Given the description of an element on the screen output the (x, y) to click on. 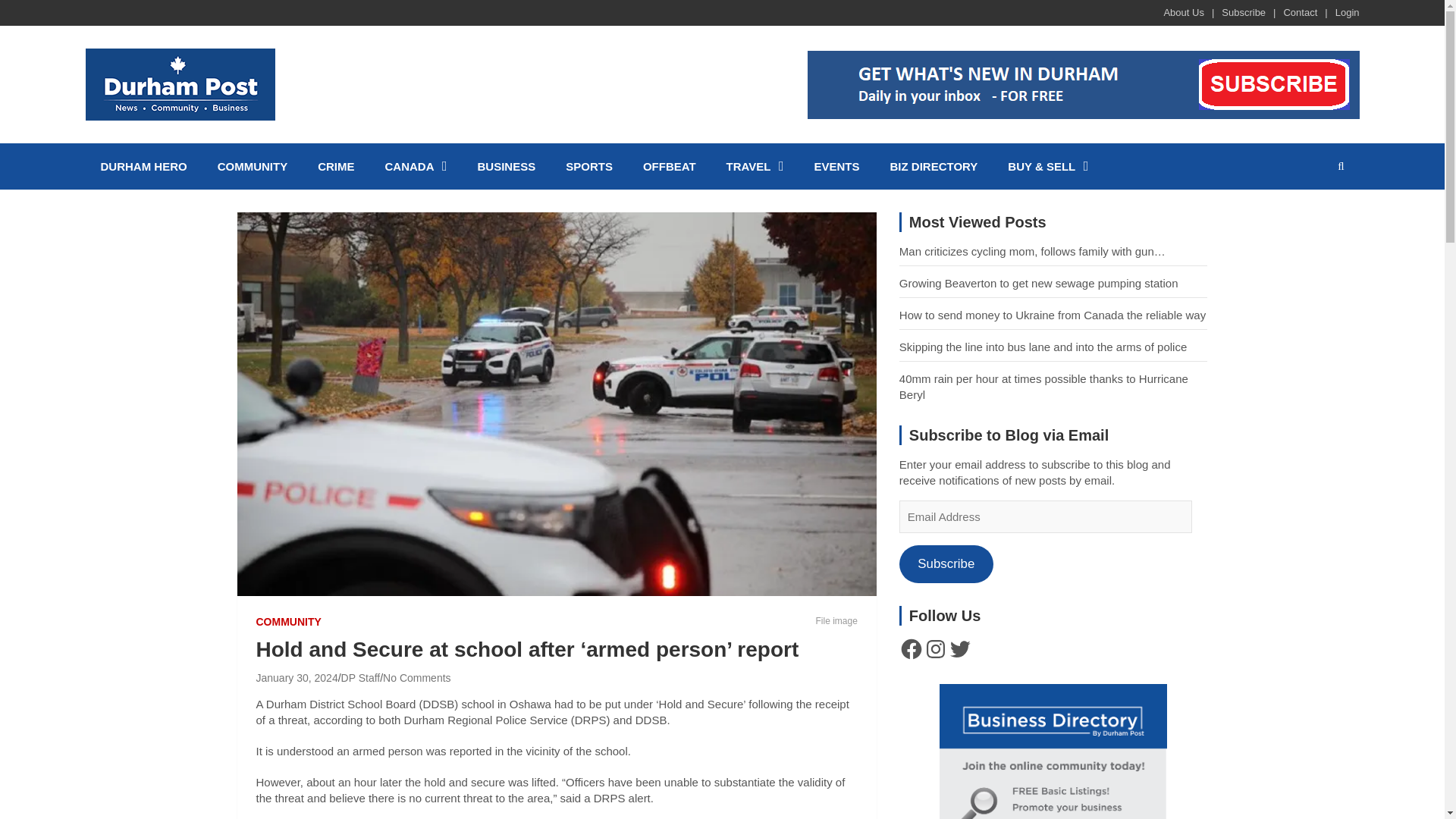
Contact (1299, 12)
Subscribe (1243, 12)
TRAVEL (755, 166)
DURHAM HERO (143, 166)
DP Staff (360, 677)
COMMUNITY (288, 622)
COMMUNITY (252, 166)
About Us (1183, 12)
CRIME (335, 166)
January 30, 2024 (296, 677)
CANADA (416, 166)
BUSINESS (507, 166)
OFFBEAT (669, 166)
EVENTS (837, 166)
BIZ DIRECTORY (933, 166)
